Given the description of an element on the screen output the (x, y) to click on. 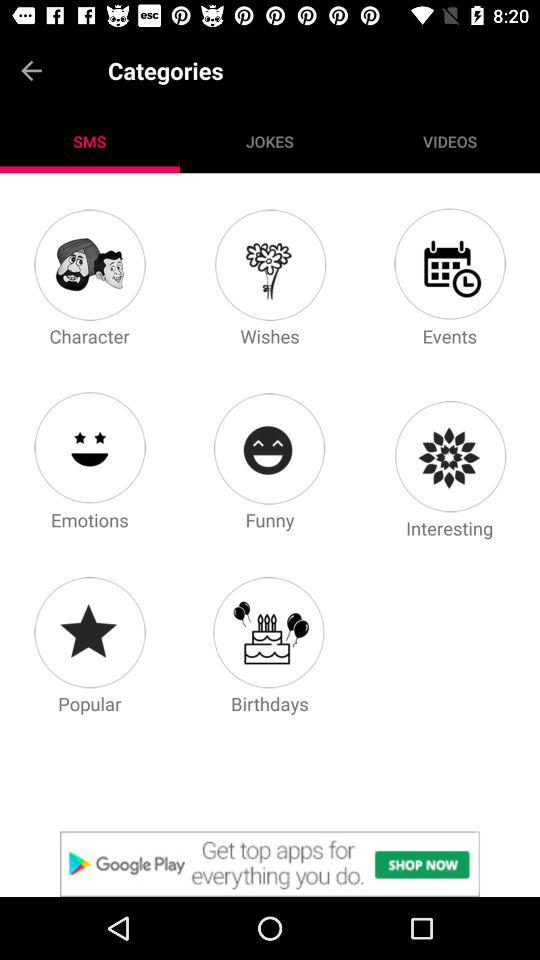
go to page (269, 264)
